Given the description of an element on the screen output the (x, y) to click on. 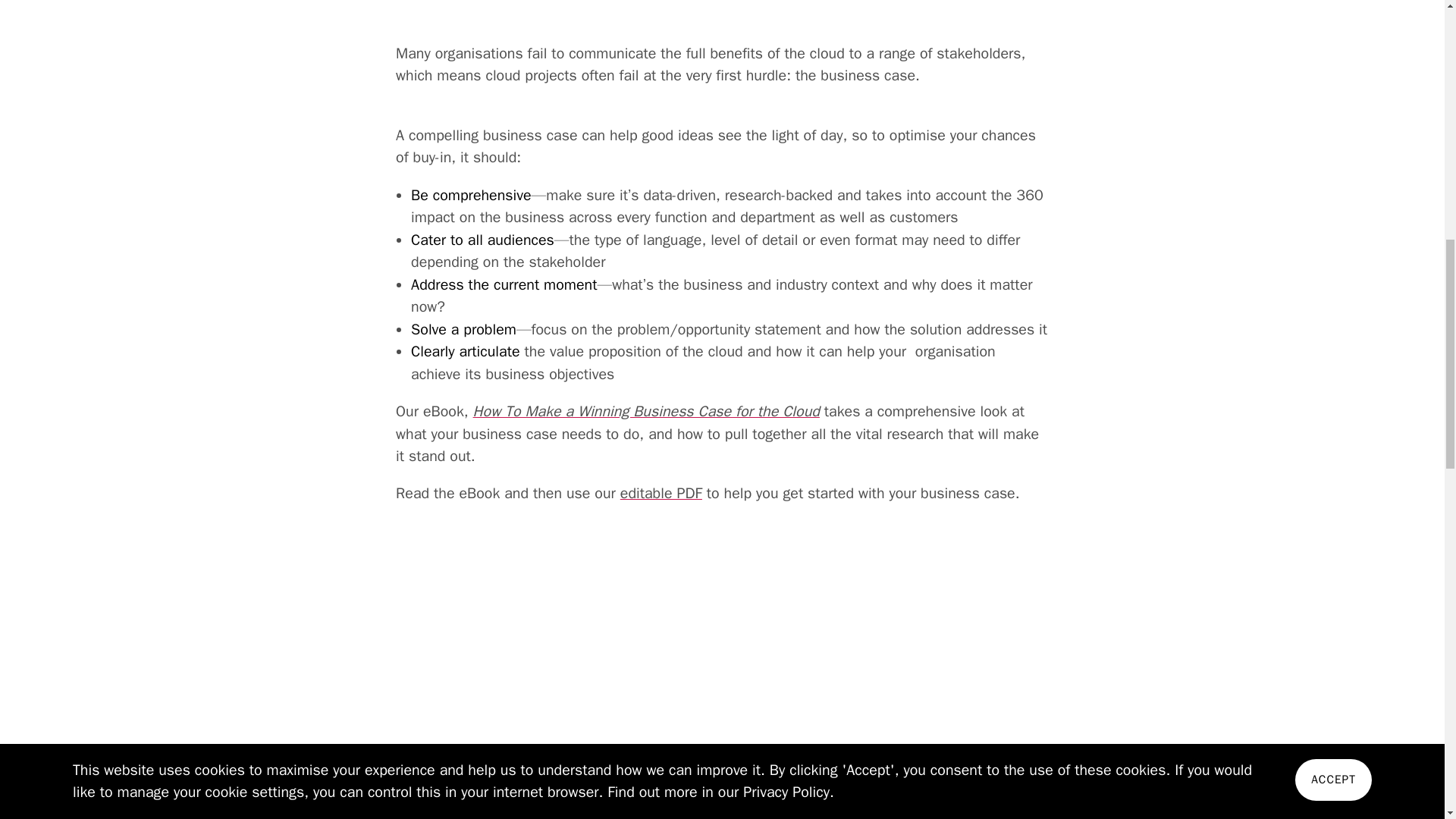
editable PDF (660, 493)
How To Make a Winning Business Case for the Cloud (646, 411)
